Given the description of an element on the screen output the (x, y) to click on. 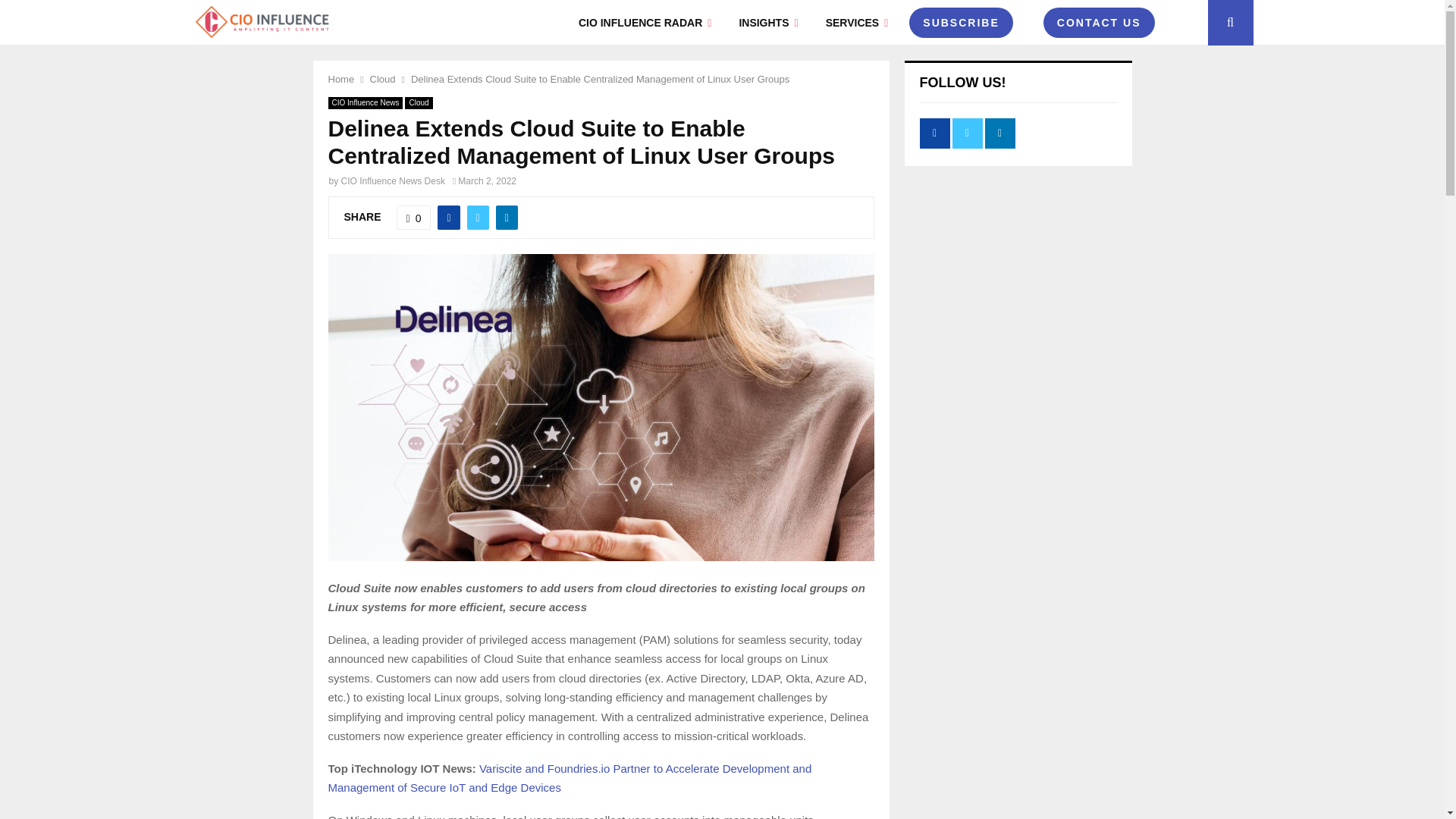
CIO INFLUENCE RADAR (644, 22)
Like (413, 217)
